Given the description of an element on the screen output the (x, y) to click on. 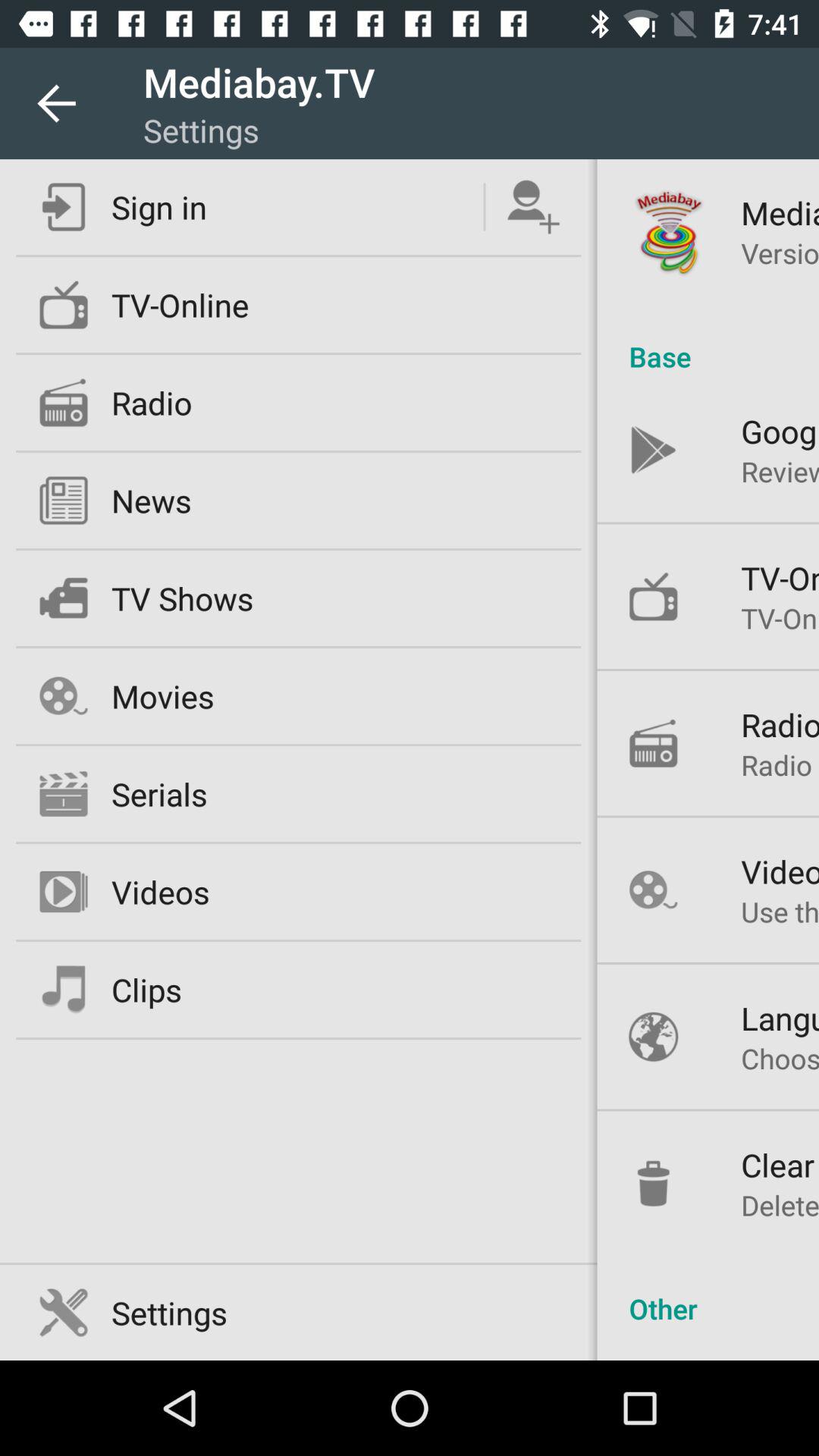
turn off the icon below the delete data and icon (708, 1292)
